Given the description of an element on the screen output the (x, y) to click on. 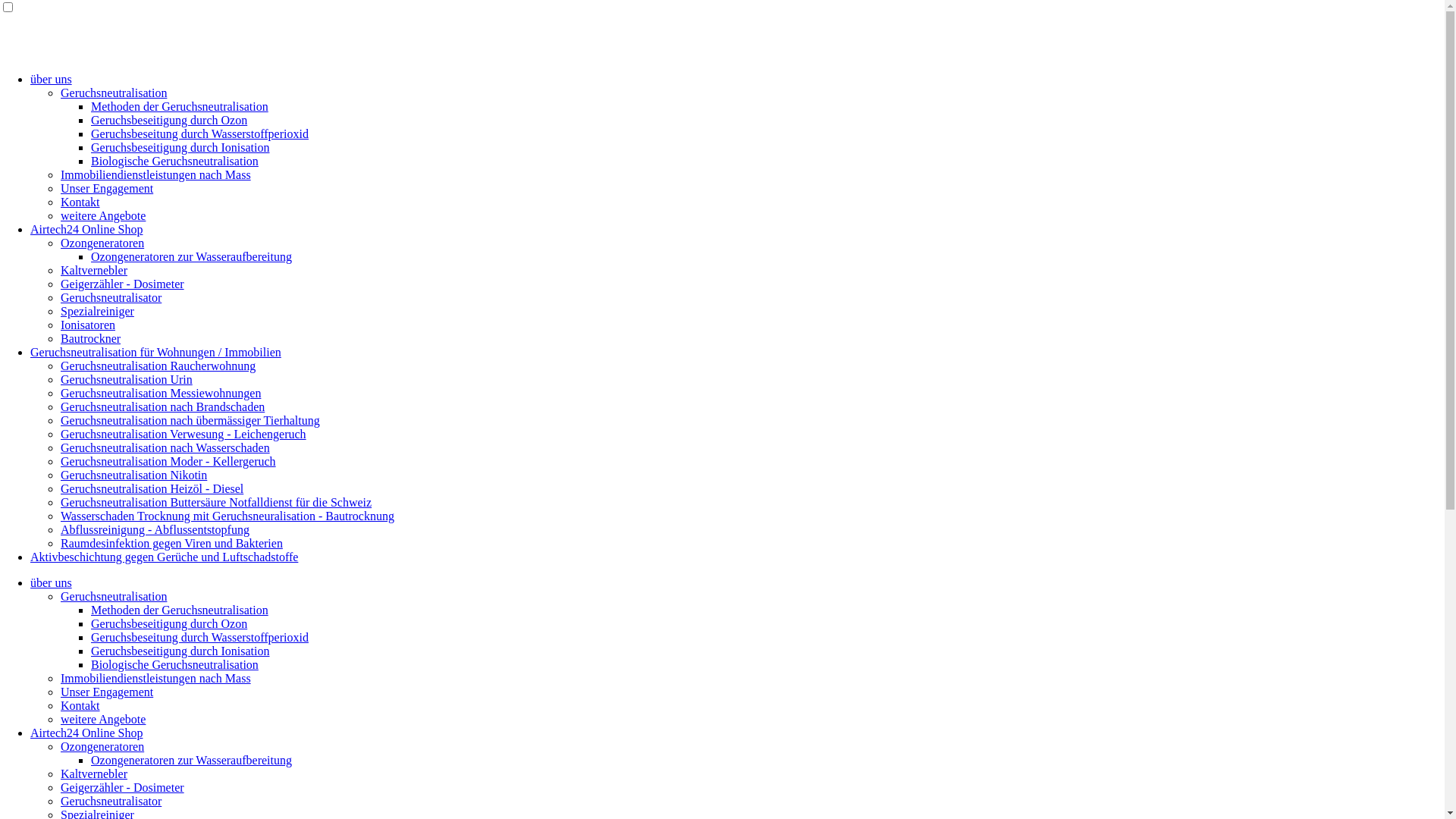
Kaltvernebler Element type: text (93, 773)
Geruchsneutralisation nach Brandschaden Element type: text (162, 406)
Immobiliendienstleistungen nach Mass Element type: text (155, 677)
Methoden der Geruchsneutralisation Element type: text (179, 106)
Spezialreiniger Element type: text (97, 310)
Geruchsbeseitung durch Wasserstoffperioxid Element type: text (199, 133)
Geruchsneutralisation Nikotin Element type: text (133, 474)
Kontakt Element type: text (80, 705)
Biologische Geruchsneutralisation Element type: text (174, 160)
weitere Angebote Element type: text (102, 718)
Geruchsbeseitung durch Wasserstoffperioxid Element type: text (199, 636)
Geruchsneutralisation Raucherwohnung Element type: text (157, 365)
Geruchsneutralisation Moder - Kellergeruch Element type: text (168, 461)
Ozongeneratoren zur Wasseraufbereitung Element type: text (191, 759)
Raumdesinfektion gegen Viren und Bakterien Element type: text (171, 542)
Geruchsneutralisation Urin Element type: text (126, 379)
Geruchsneutralisation Element type: text (113, 92)
Methoden der Geruchsneutralisation Element type: text (179, 609)
Kontakt Element type: text (80, 201)
Geruchsneutralisation nach Wasserschaden Element type: text (164, 447)
Geruchsneutralisator Element type: text (110, 800)
Bautrockner Element type: text (90, 338)
weitere Angebote Element type: text (102, 215)
Airtech24 Online Shop Element type: text (86, 228)
Unser Engagement Element type: text (106, 188)
Unser Engagement Element type: text (106, 691)
Abflussreinigung - Abflussentstopfung Element type: text (154, 529)
Airtech24 Online Shop Element type: text (86, 732)
Biologische Geruchsneutralisation Element type: text (174, 664)
Immobiliendienstleistungen nach Mass Element type: text (155, 174)
Geruchsneutralisation Messiewohnungen Element type: text (160, 392)
Ozongeneratoren zur Wasseraufbereitung Element type: text (191, 256)
Geruchsbeseitigung durch Ionisation Element type: text (180, 650)
Ionisatoren Element type: text (87, 324)
Geruchsneutralisation Element type: text (113, 595)
Geruchsneutralisation Verwesung - Leichengeruch Element type: text (183, 433)
Ozongeneratoren Element type: text (102, 242)
Kaltvernebler Element type: text (93, 269)
Geruchsbeseitigung durch Ozon Element type: text (169, 623)
Geruchsbeseitigung durch Ozon Element type: text (169, 119)
Geruchsneutralisator Element type: text (110, 297)
Geruchsbeseitigung durch Ionisation Element type: text (180, 147)
Ozongeneratoren Element type: text (102, 746)
